Given the description of an element on the screen output the (x, y) to click on. 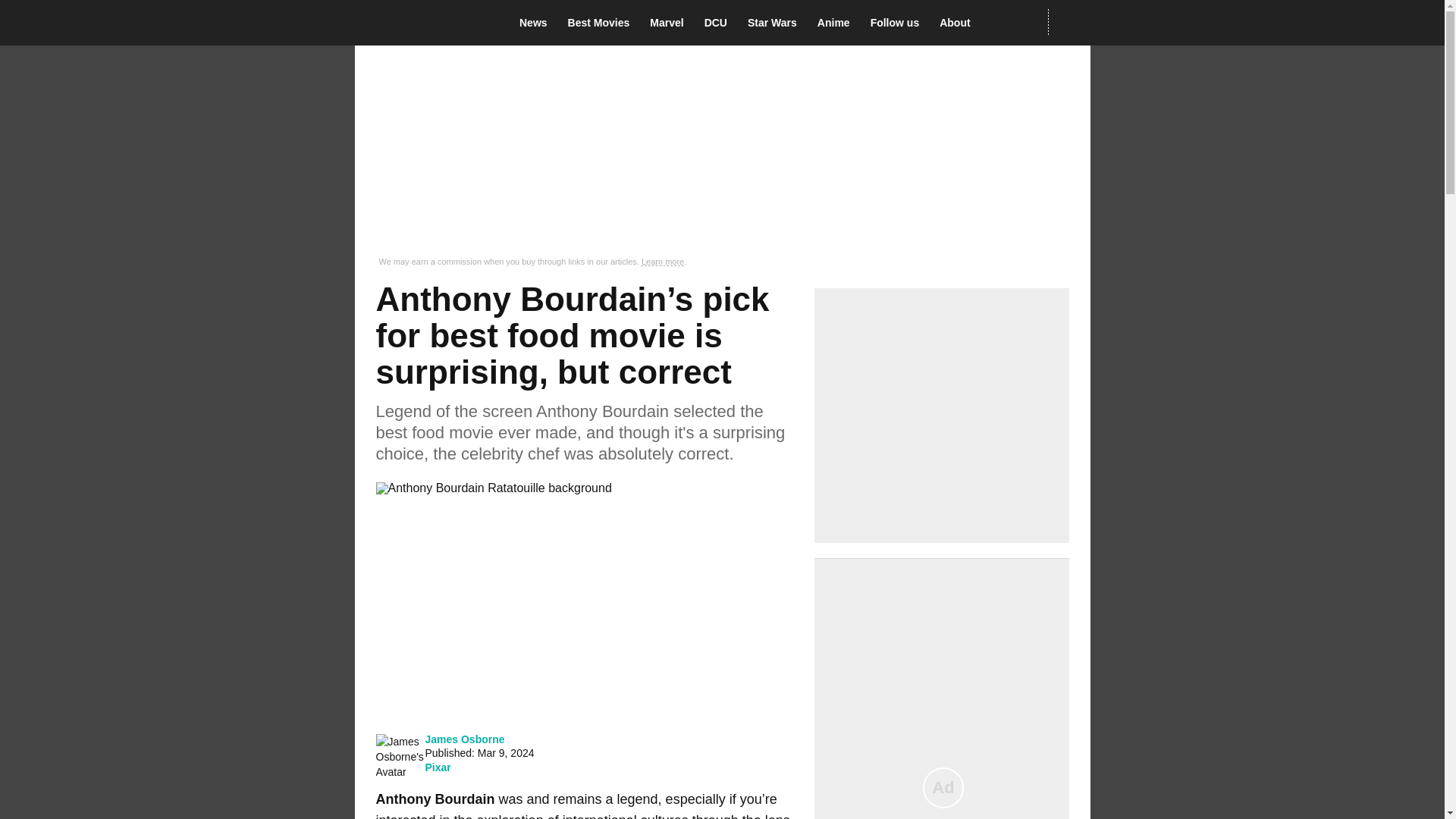
Network N Media (1068, 22)
James Osborne (464, 739)
Marvel Cinematic Universe News (671, 22)
Follow us (899, 22)
Best Movies (603, 22)
The Digital Fix (424, 22)
Star Wars (777, 22)
Anime News (837, 22)
Anime (837, 22)
Marvel (671, 22)
